Given the description of an element on the screen output the (x, y) to click on. 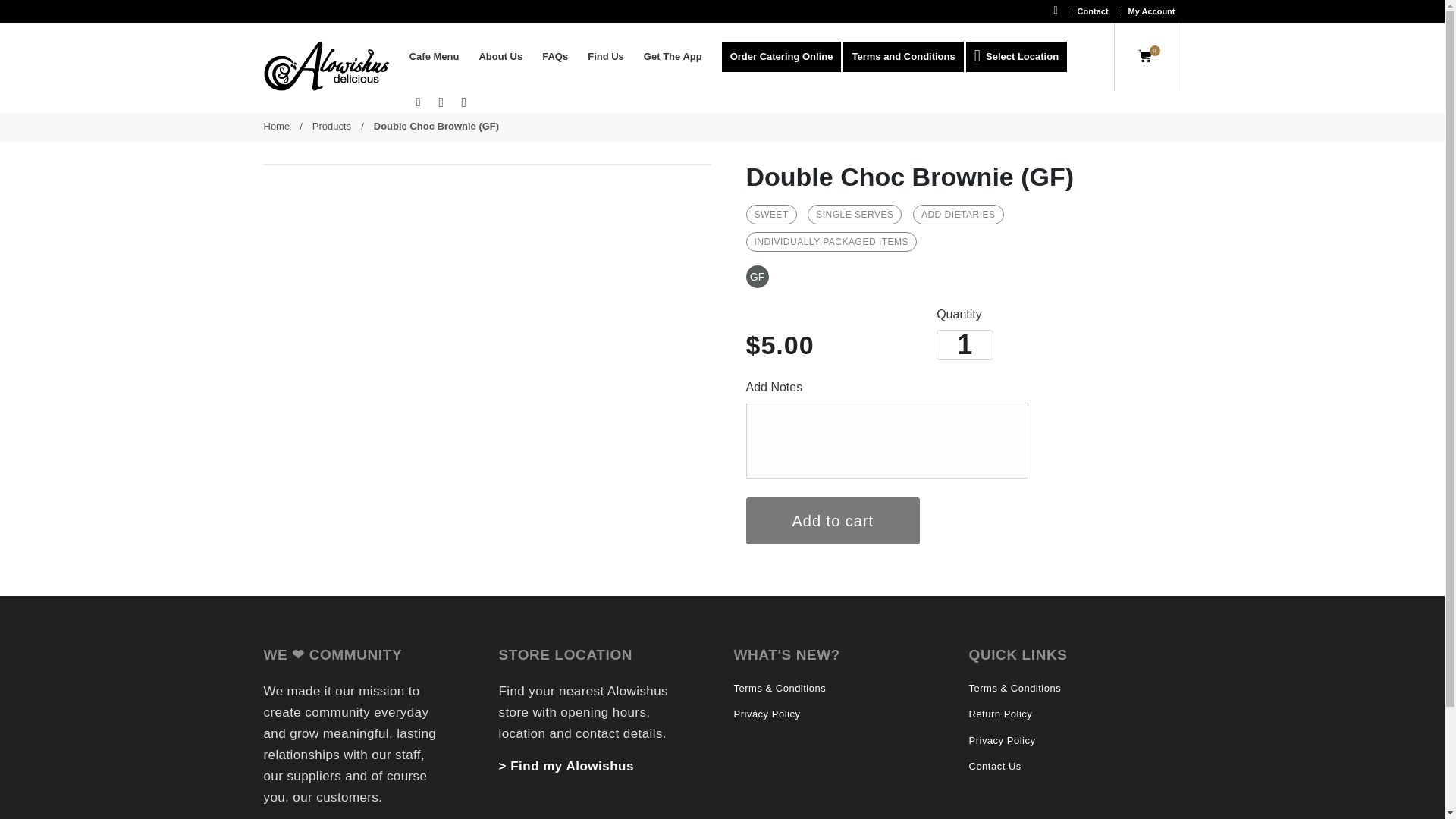
1 (964, 345)
